Given the description of an element on the screen output the (x, y) to click on. 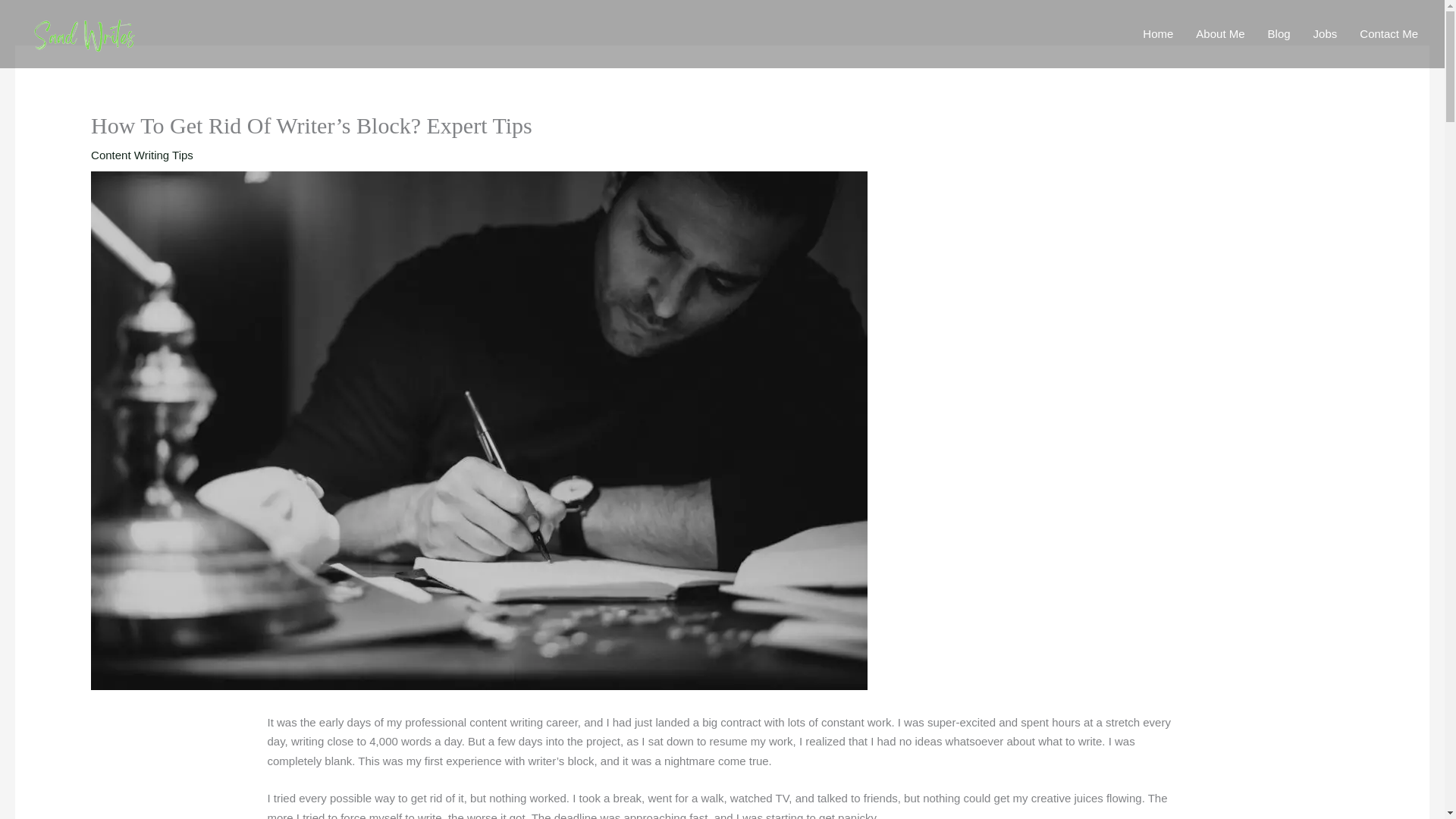
Content Writing Tips (141, 154)
About Me (1220, 34)
Contact Me (1388, 34)
